Given the description of an element on the screen output the (x, y) to click on. 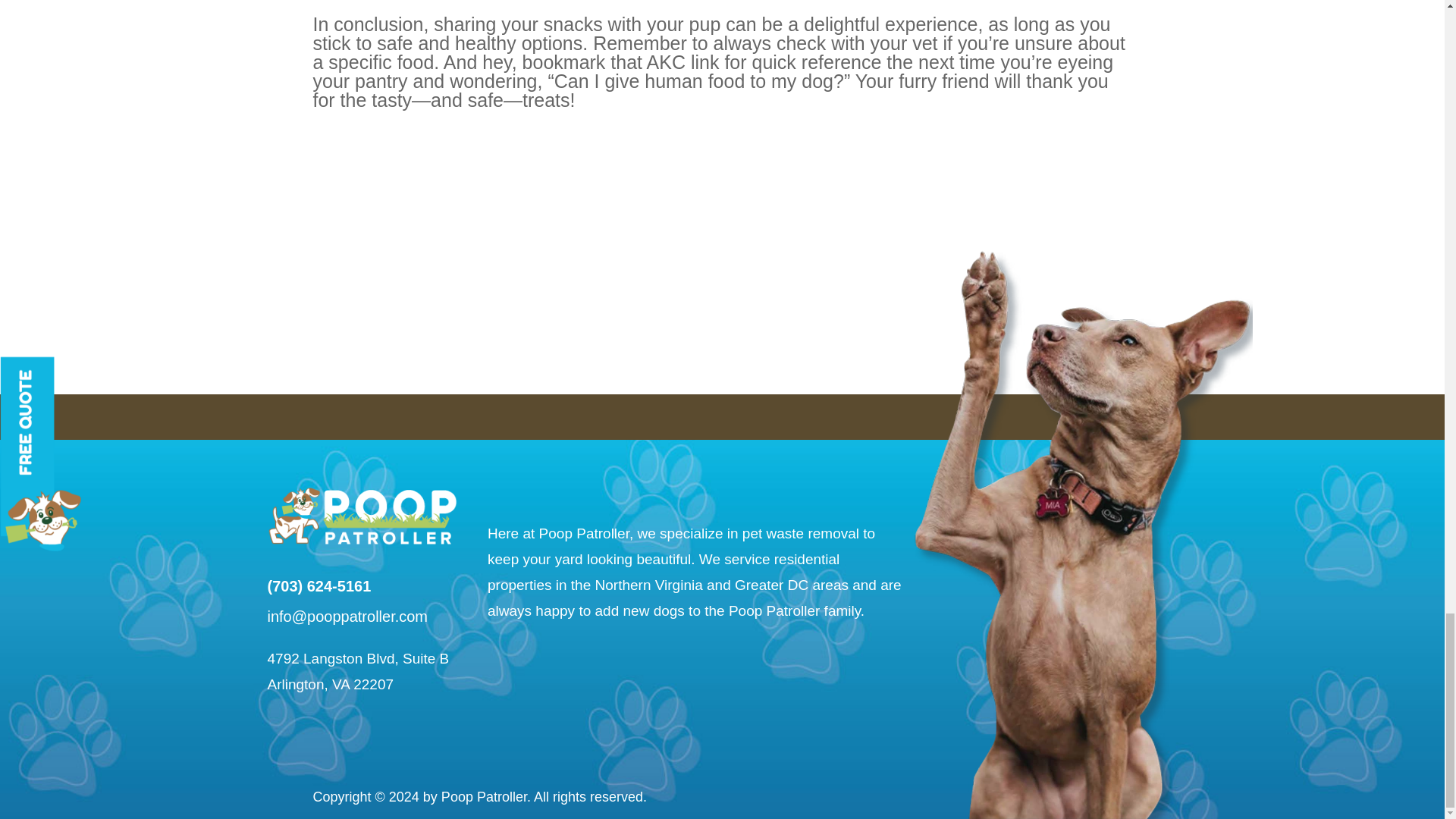
footer-logo (361, 514)
